Given the description of an element on the screen output the (x, y) to click on. 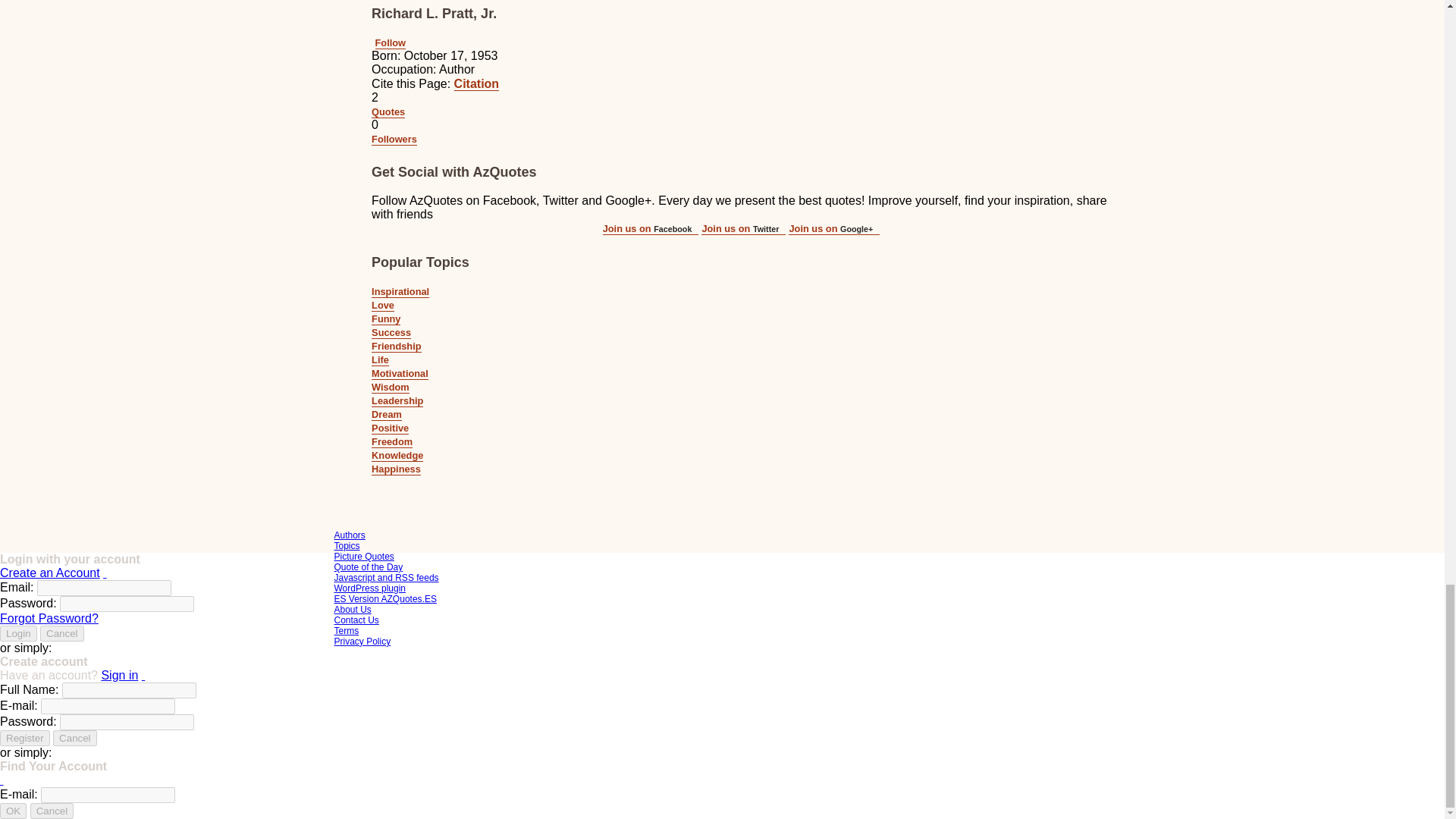
Cancel (62, 633)
Register (24, 738)
Cancel (74, 738)
Login (18, 633)
